Given the description of an element on the screen output the (x, y) to click on. 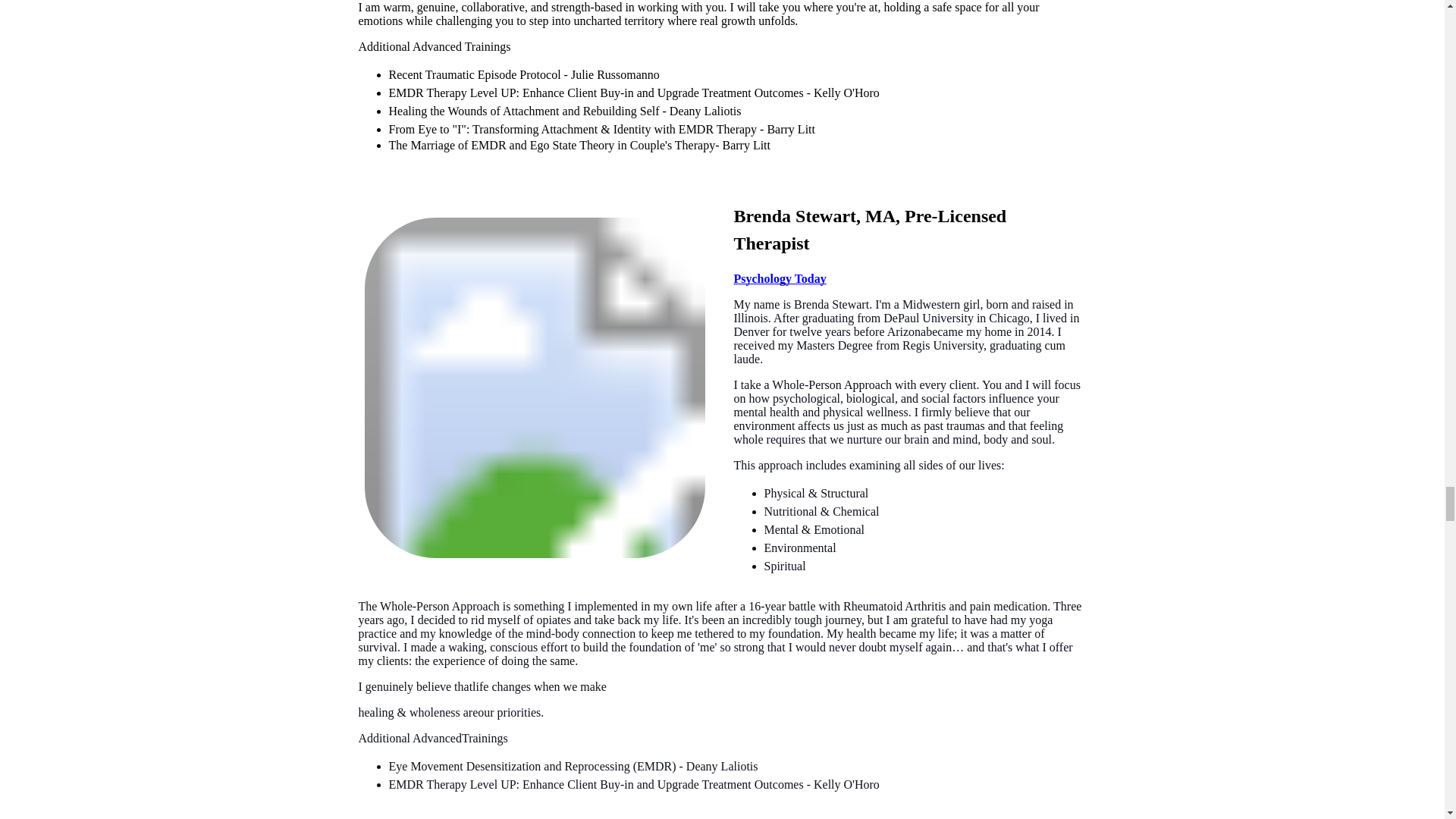
Brenda Stewart - Phoenix, AZ - Infinite Healing and Wellness (534, 387)
